Given the description of an element on the screen output the (x, y) to click on. 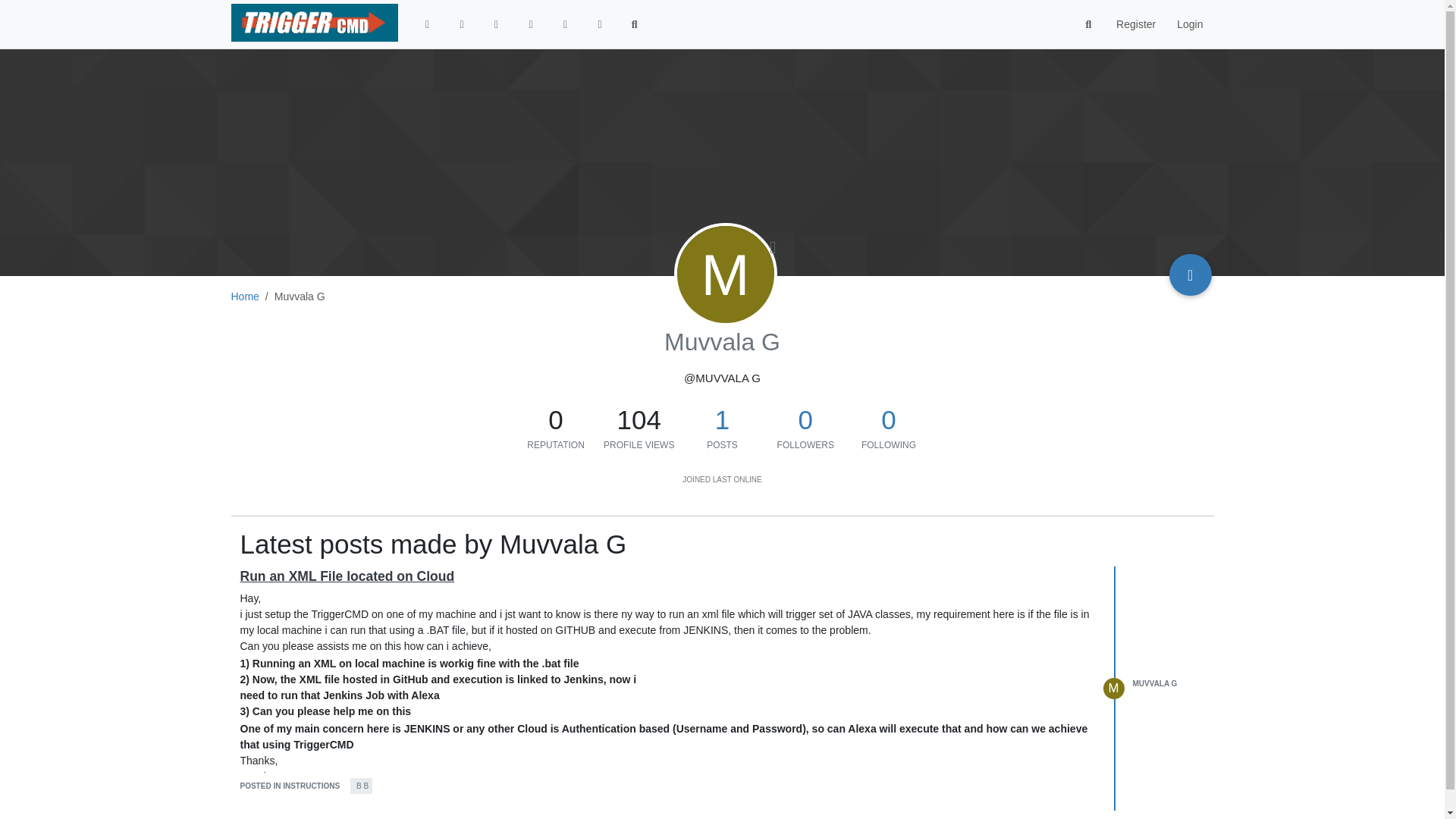
Register (1135, 24)
MUVVALA G (1154, 683)
Popular (530, 24)
Run an XML File located on Cloud (347, 575)
Recent (461, 24)
Search (1088, 24)
Muvvala G (725, 274)
Home (244, 296)
Groups (599, 24)
Search (634, 24)
